Given the description of an element on the screen output the (x, y) to click on. 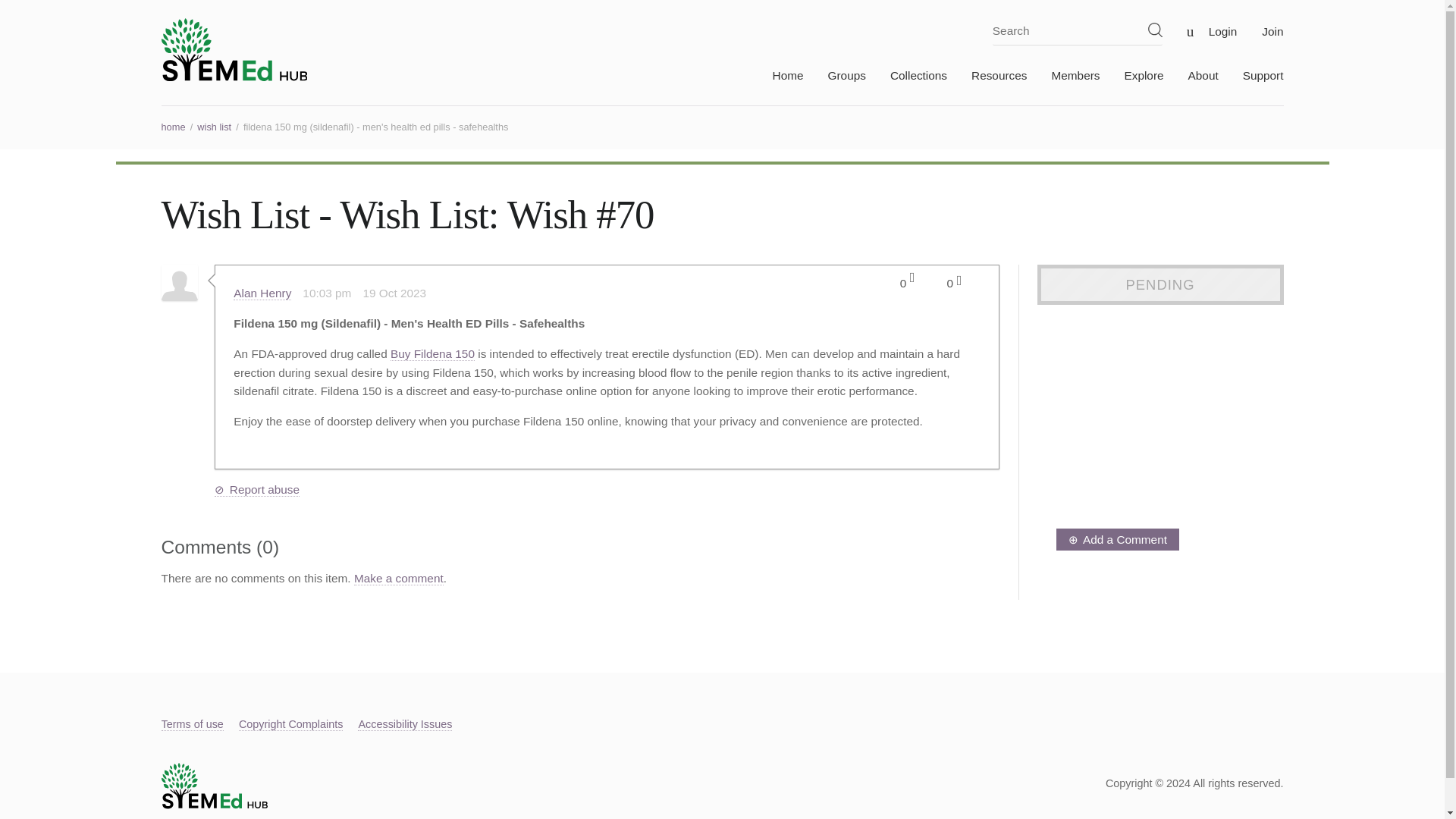
Login (1211, 31)
stemedhub (233, 49)
stemedhub (213, 805)
Alan Henry (261, 293)
Sign up for a free account (1262, 31)
Support (1251, 81)
Login (1211, 31)
Join (1262, 31)
home (172, 126)
Vote down :: Please login to vote. (958, 281)
